Given the description of an element on the screen output the (x, y) to click on. 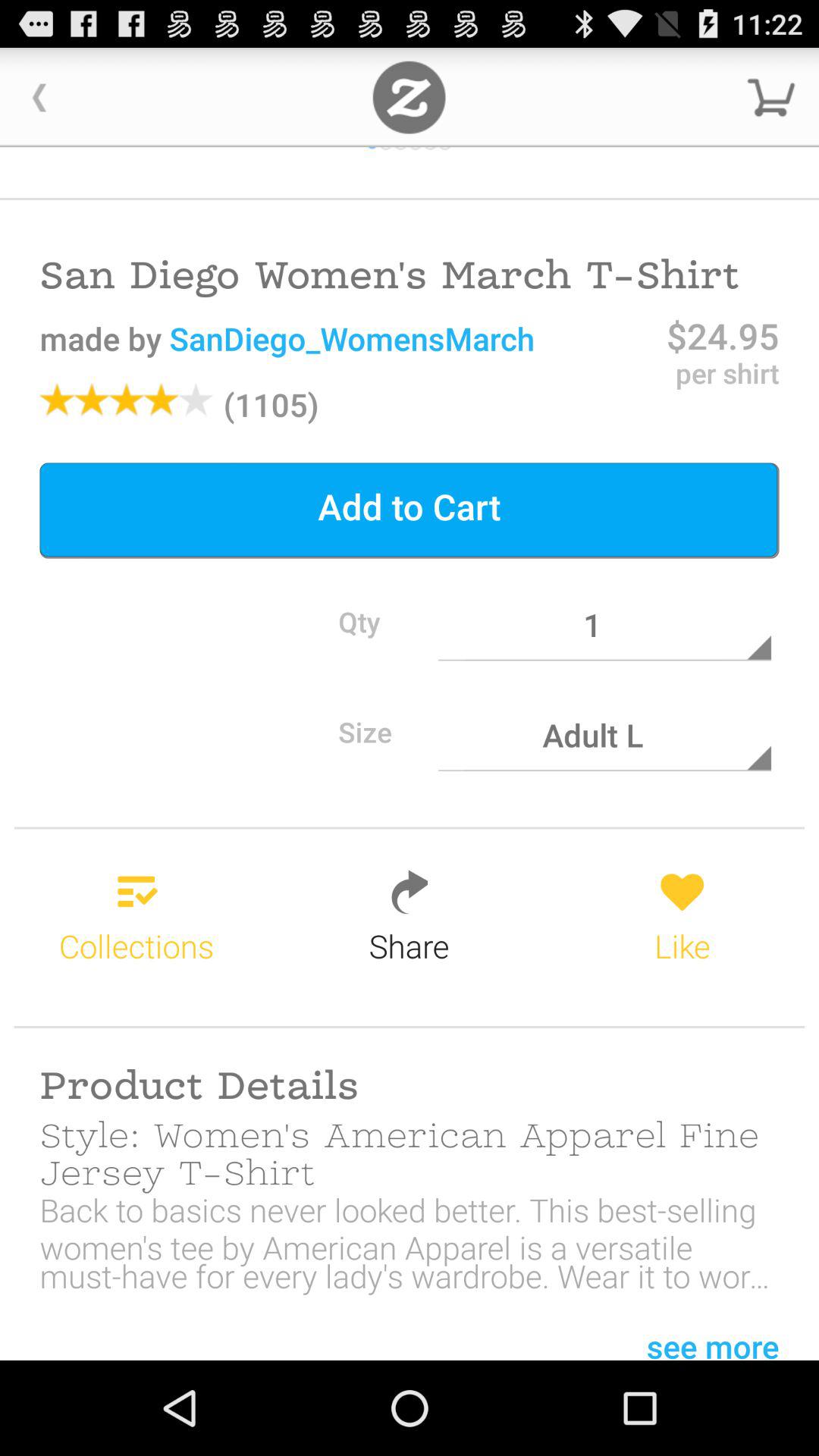
share the article (408, 97)
